Given the description of an element on the screen output the (x, y) to click on. 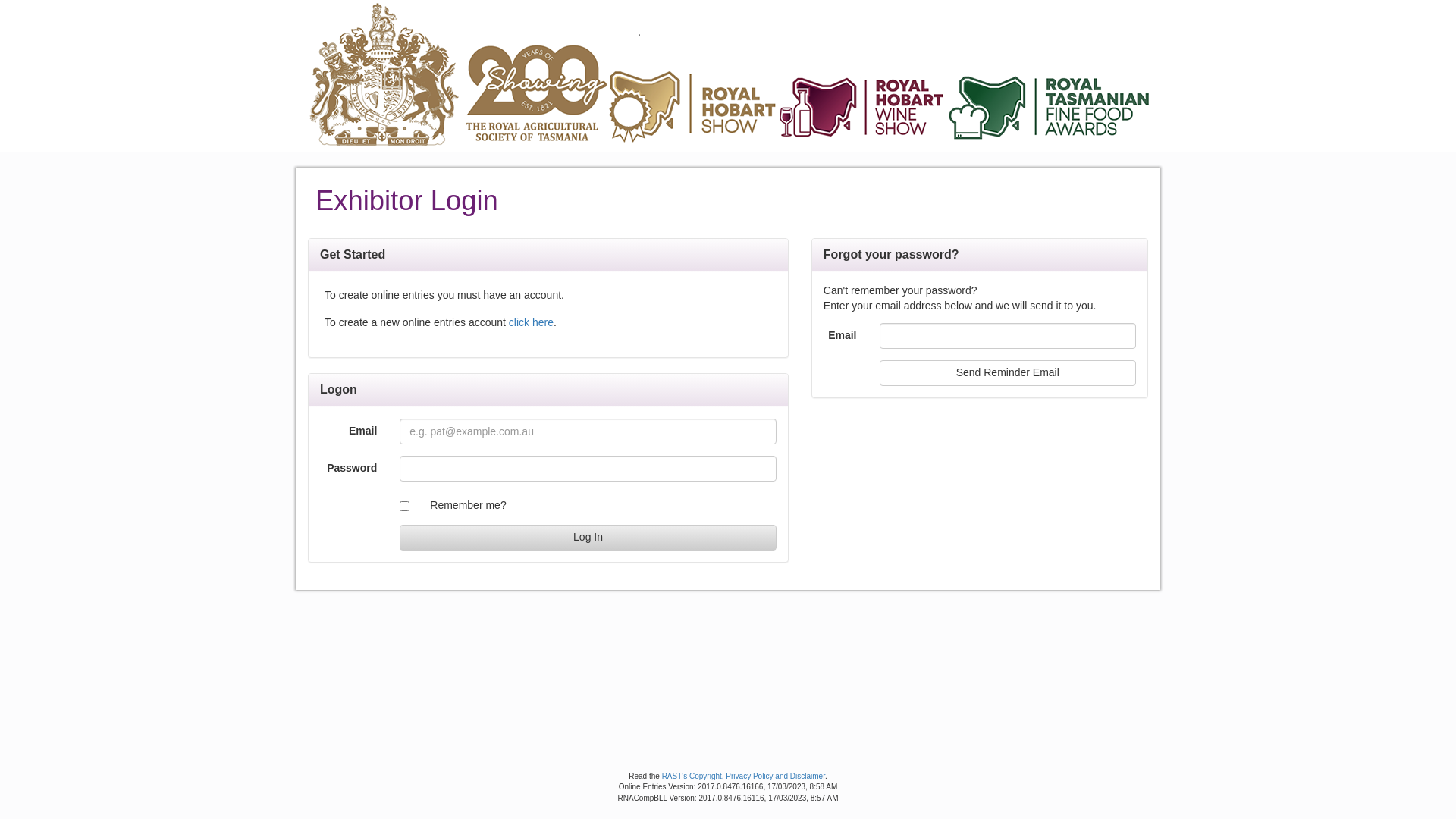
click here Element type: text (530, 322)
Send Reminder Email Element type: text (1007, 372)
RAST's Copyright, Privacy Policy and Disclaimer Element type: text (743, 775)
Log In Element type: text (587, 537)
